Given the description of an element on the screen output the (x, y) to click on. 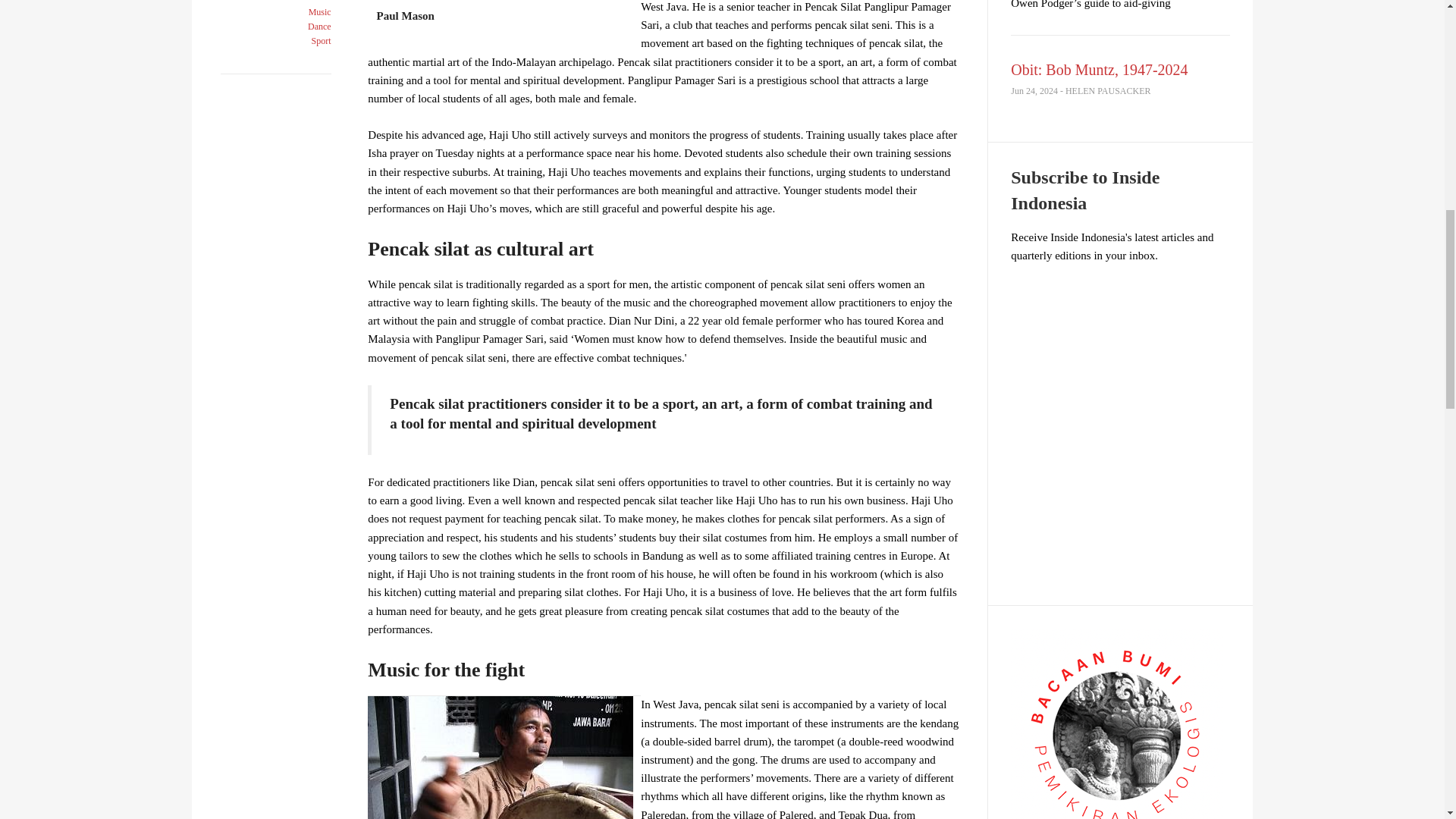
mason2.jpg (500, 757)
Obit: Bob Muntz, 1947-2024 (1099, 69)
